Given the description of an element on the screen output the (x, y) to click on. 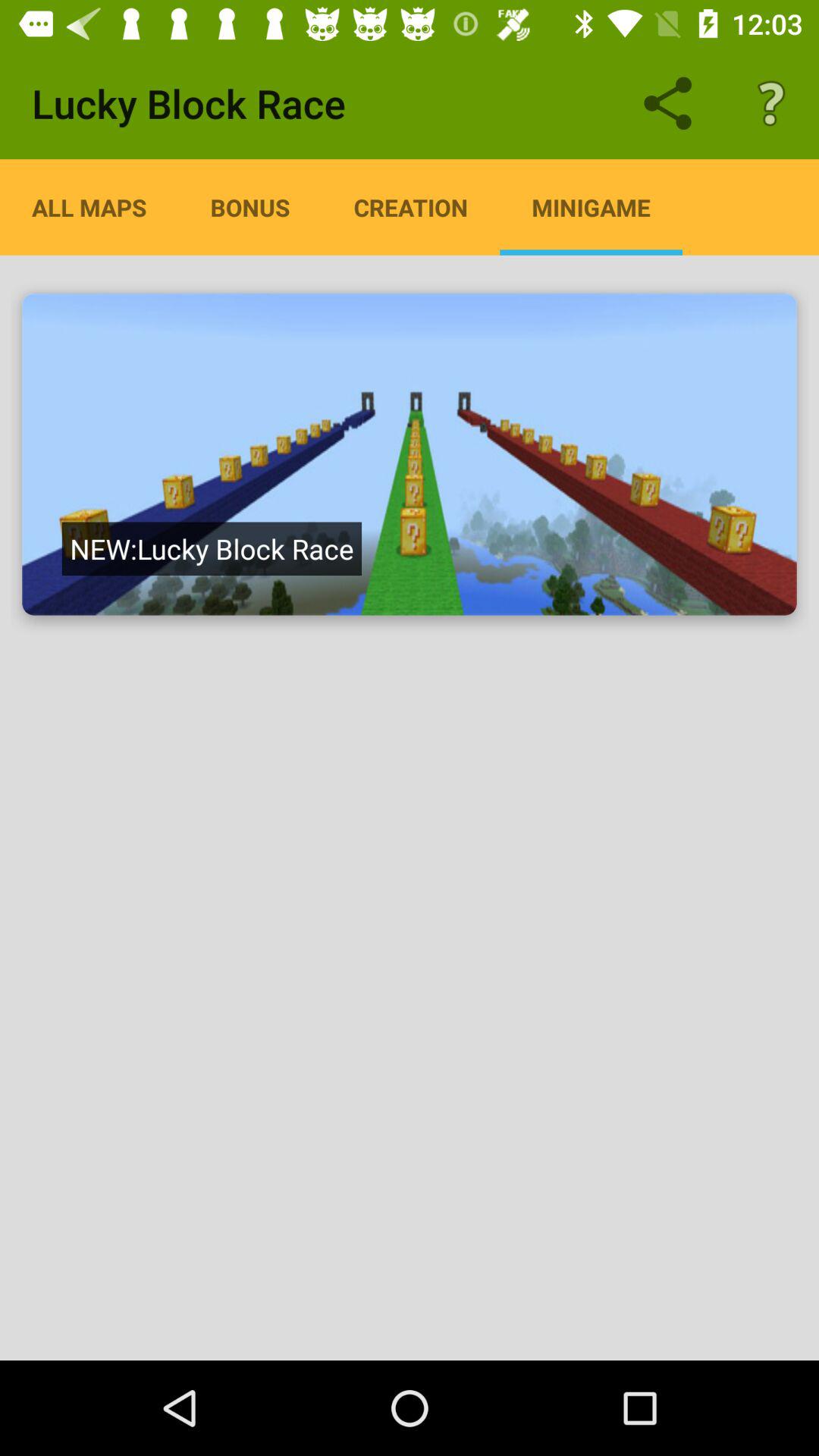
click the icon to the right of the all maps (249, 207)
